Given the description of an element on the screen output the (x, y) to click on. 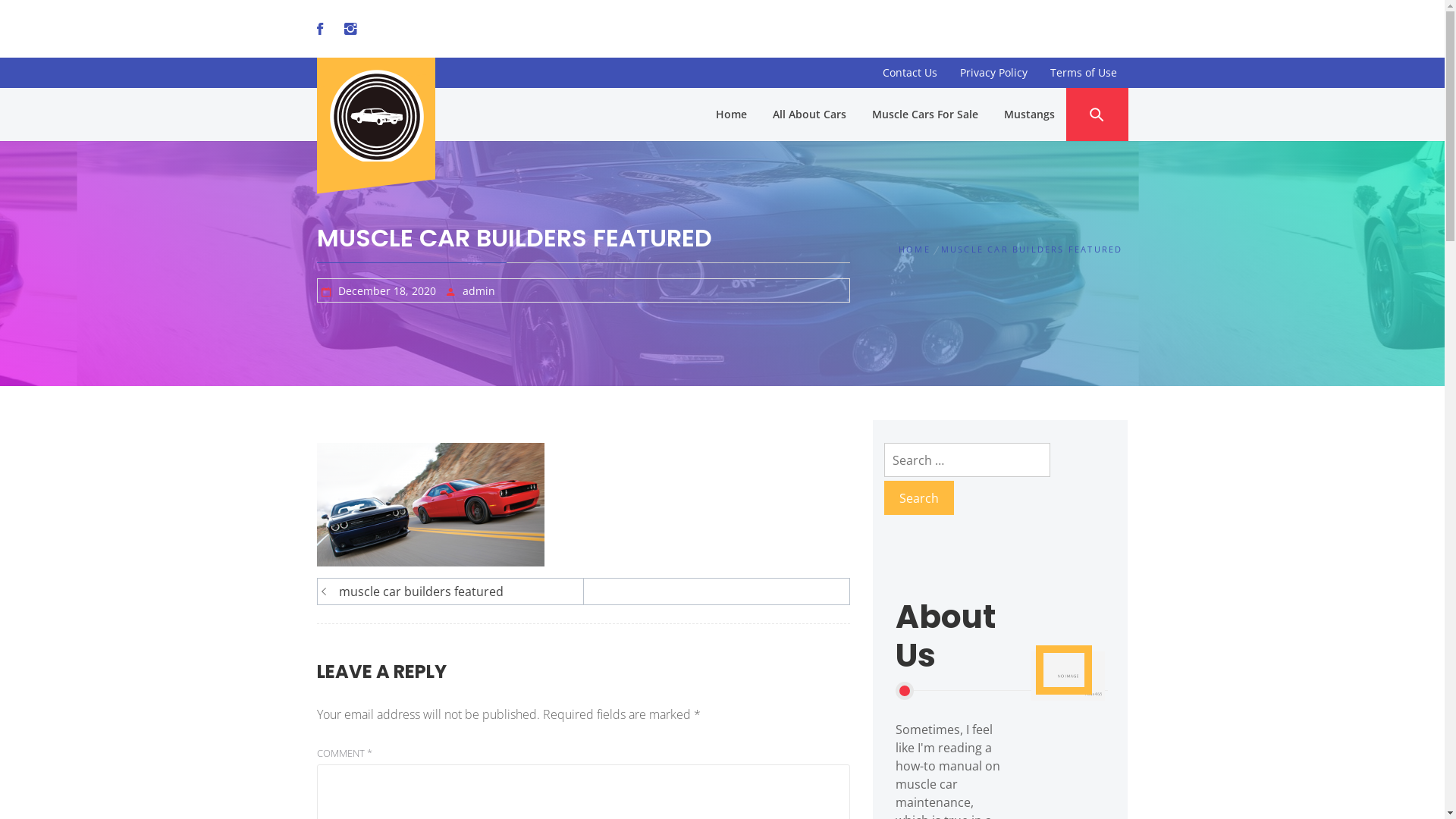
Search Element type: text (918, 497)
HOME Element type: text (916, 248)
muscle car builders featured Element type: text (453, 591)
QUALITY VEHICLES, NEW AND USED Element type: text (380, 114)
MUSCLE CAR BUILDERS FEATURED Element type: text (1031, 248)
All About Cars Element type: text (809, 114)
Muscle Cars For Sale Element type: text (923, 114)
admin Element type: text (478, 290)
Privacy Policy Element type: text (992, 72)
Mustangs Element type: text (1028, 114)
December 18, 2020 Element type: text (387, 290)
Contact Us Element type: text (908, 72)
Terms of Use Element type: text (1083, 72)
Home Element type: text (730, 114)
